Given the description of an element on the screen output the (x, y) to click on. 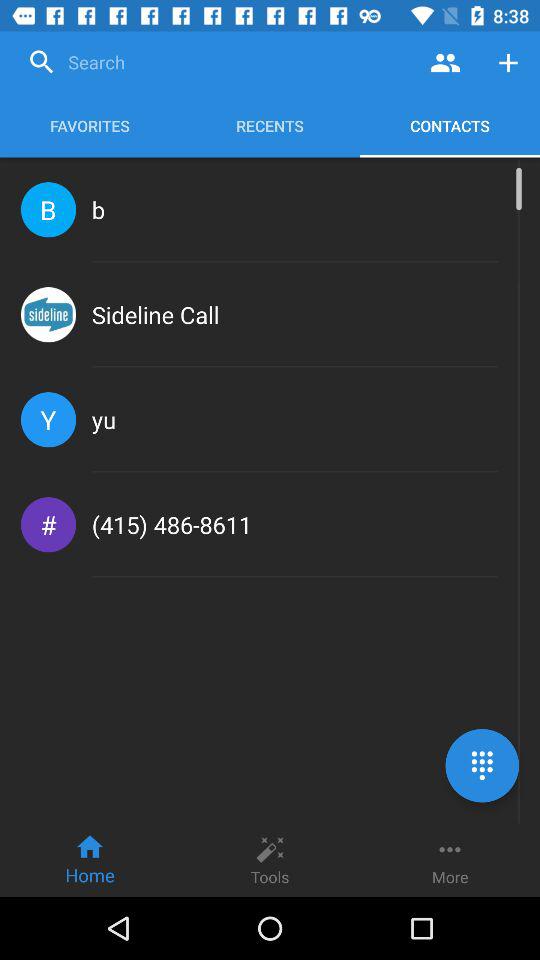
open keypad (482, 765)
